Given the description of an element on the screen output the (x, y) to click on. 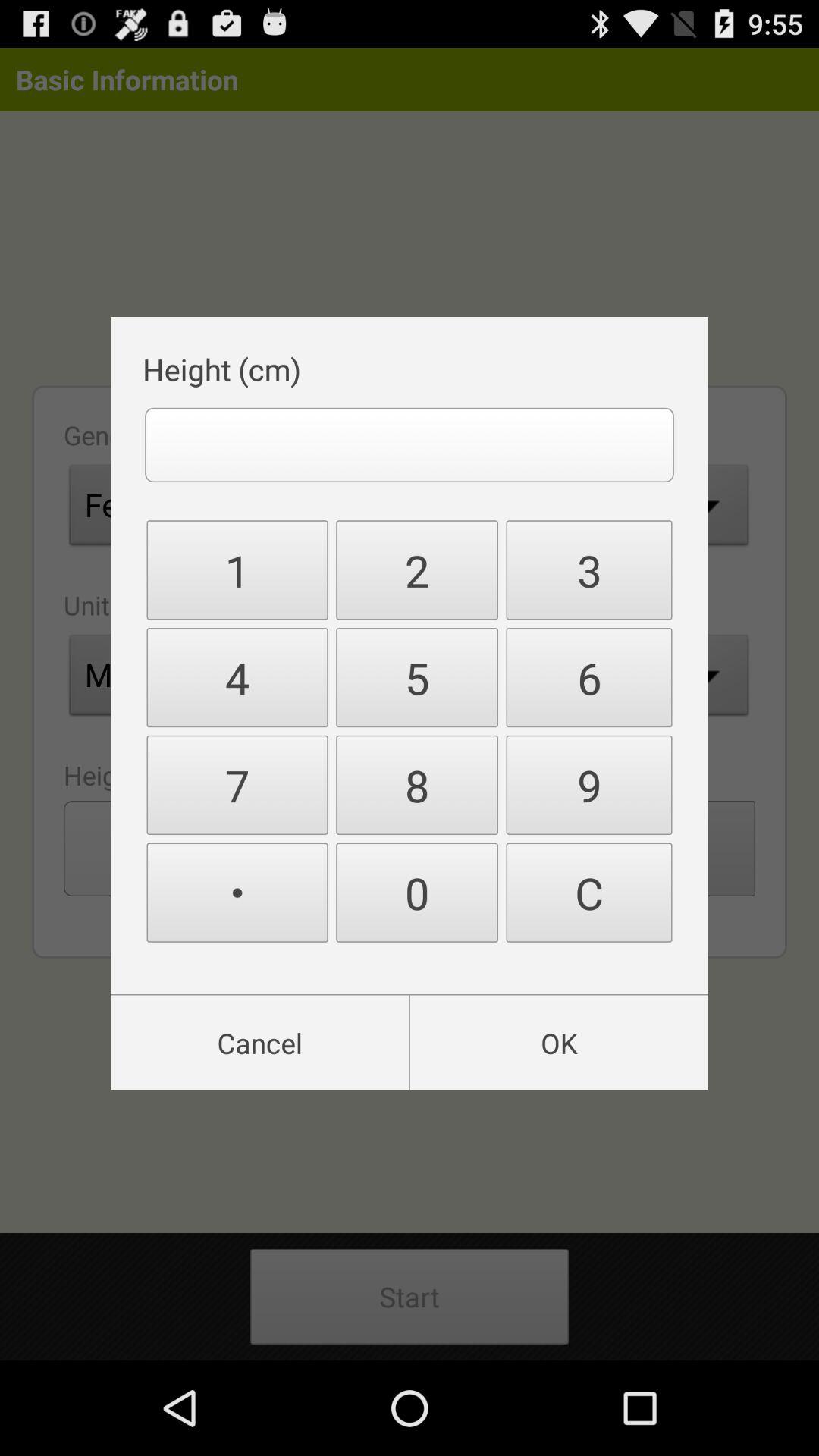
swipe until the 6 item (589, 677)
